Given the description of an element on the screen output the (x, y) to click on. 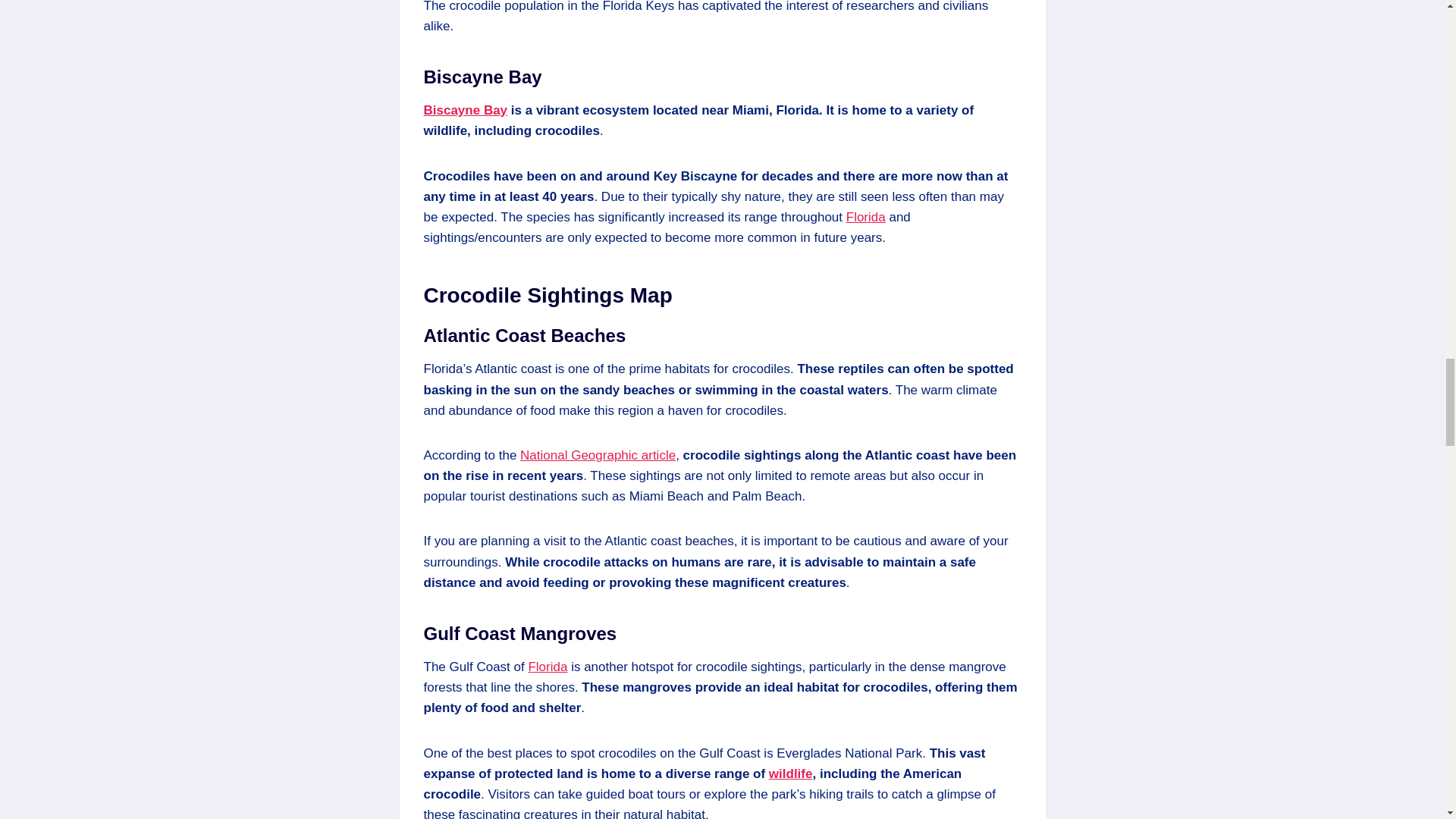
Florida (865, 216)
wildlife (790, 773)
Biscayne Bay (464, 110)
Florida (547, 667)
National Geographic article (597, 454)
